Given the description of an element on the screen output the (x, y) to click on. 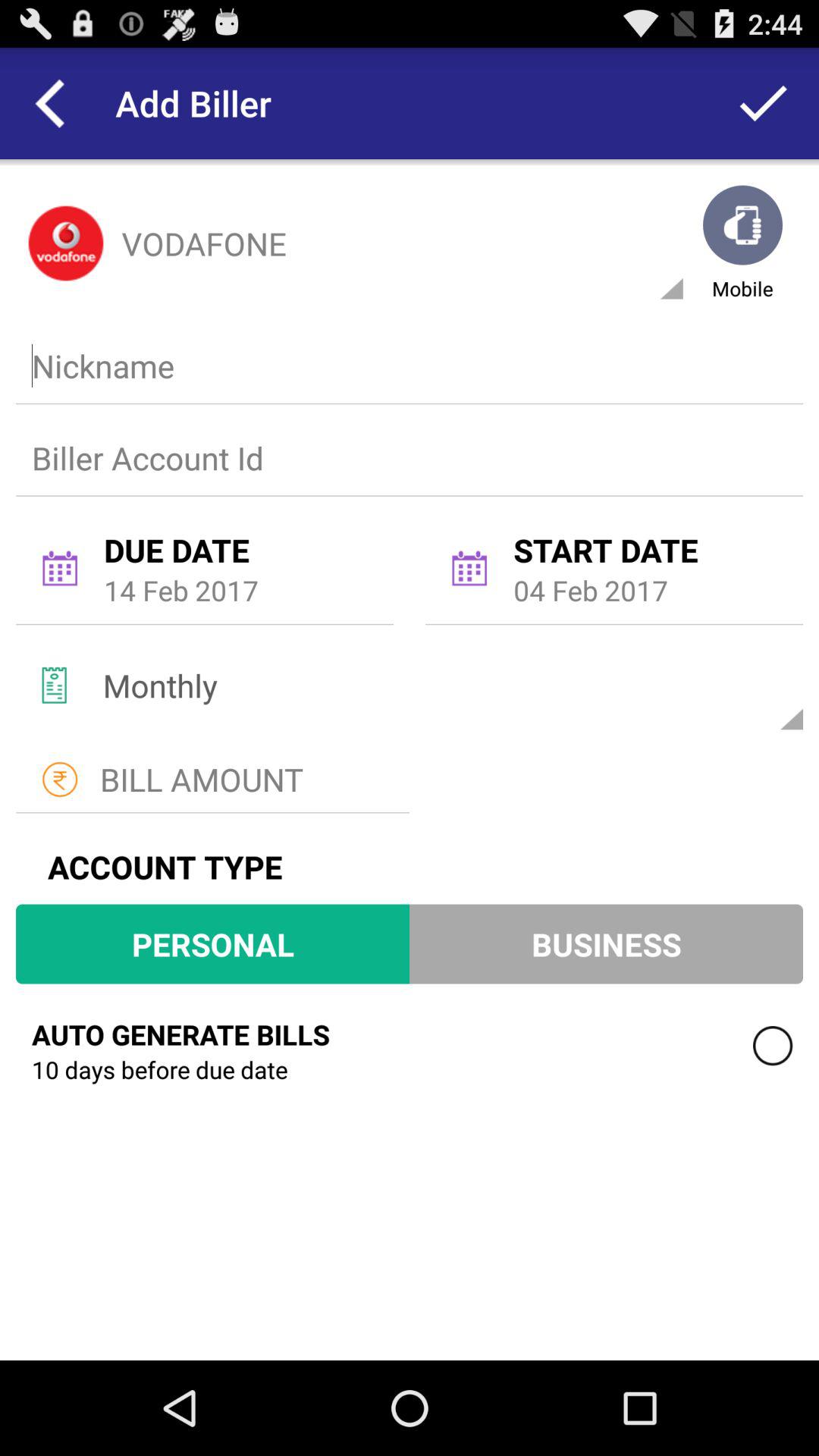
choose the personal (212, 943)
